Given the description of an element on the screen output the (x, y) to click on. 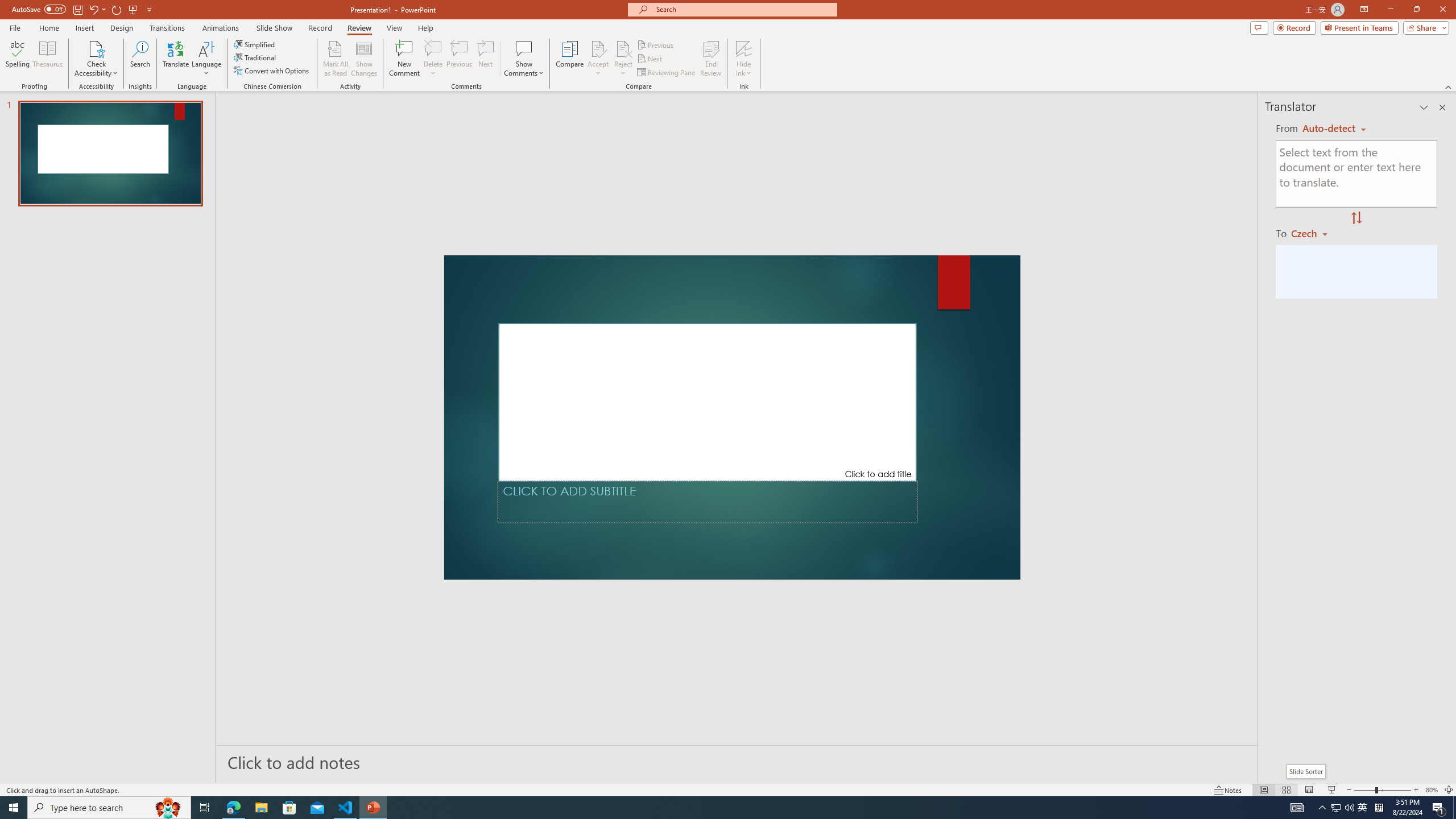
Slide (110, 153)
Traditional (255, 56)
Search (140, 58)
Class: MsoCommandBar (728, 789)
Accept Change (598, 48)
Slide Notes (737, 761)
